Given the description of an element on the screen output the (x, y) to click on. 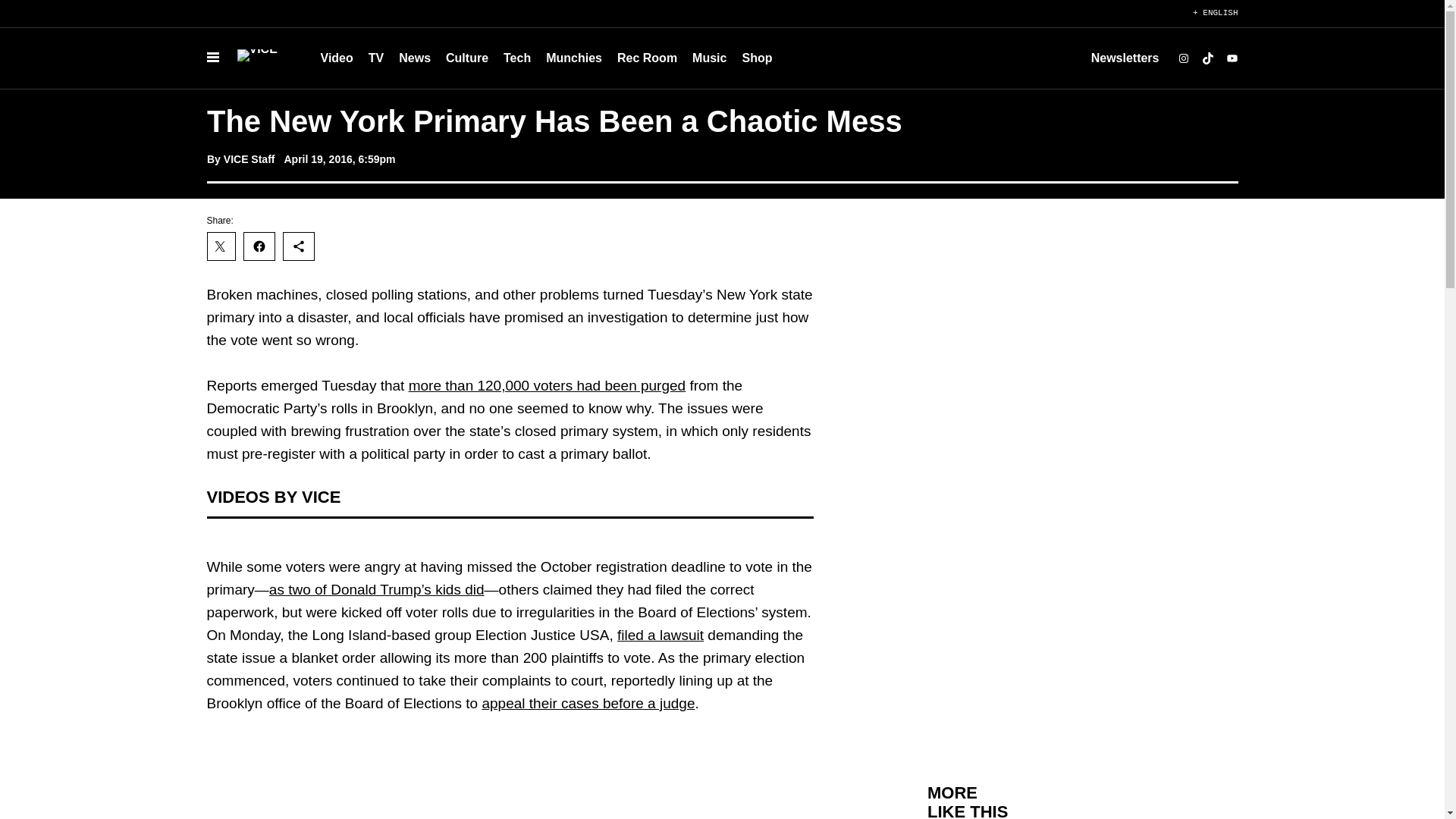
Open Menu (211, 58)
Shop (755, 58)
Music (708, 58)
Posts by VICE Staff (248, 159)
TikTok (1206, 58)
Rec Room (647, 58)
YouTube (1231, 58)
Newsletters (1124, 57)
Munchies (574, 58)
